Given the description of an element on the screen output the (x, y) to click on. 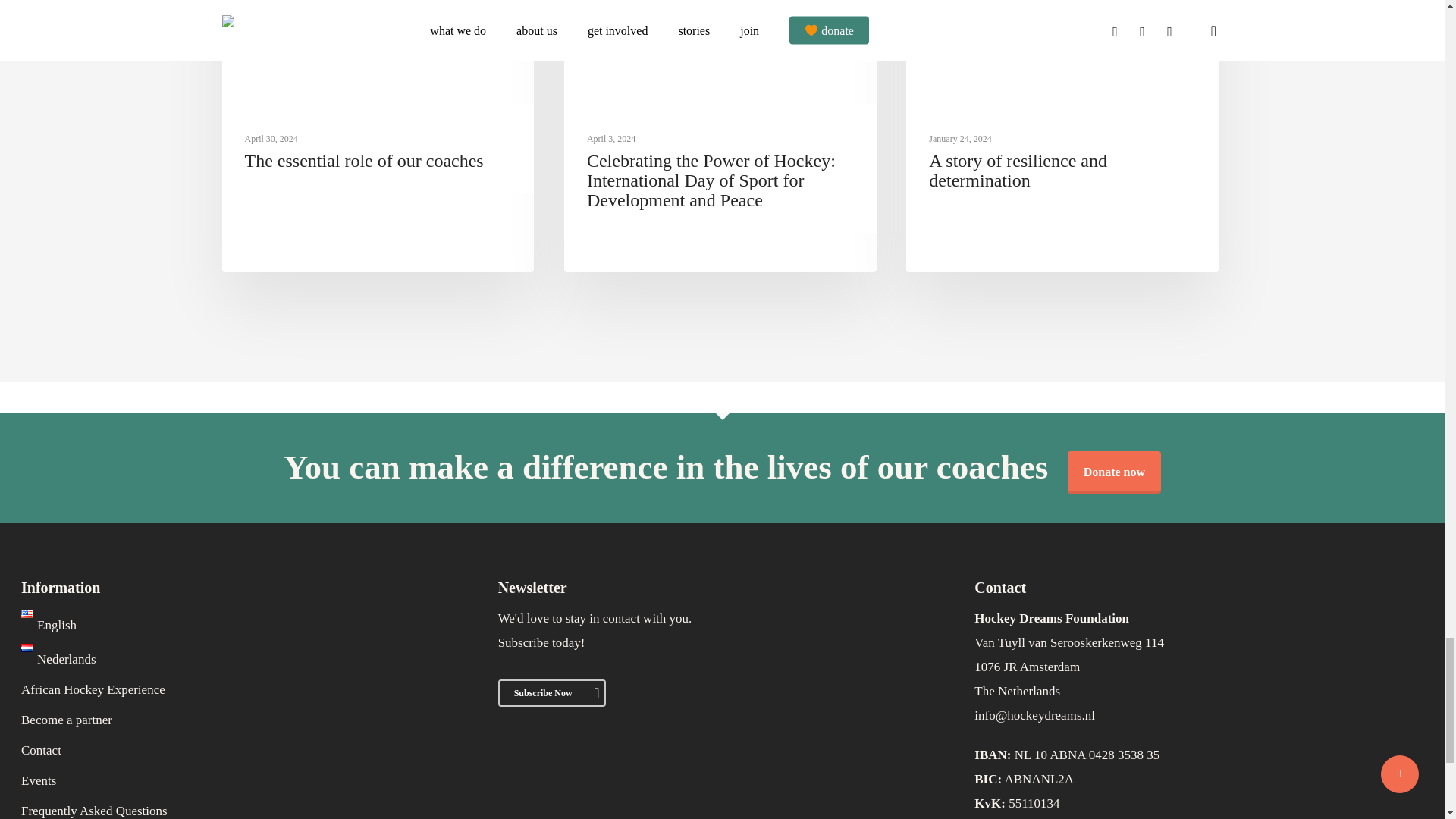
English (49, 625)
Donate now (1113, 472)
